Given the description of an element on the screen output the (x, y) to click on. 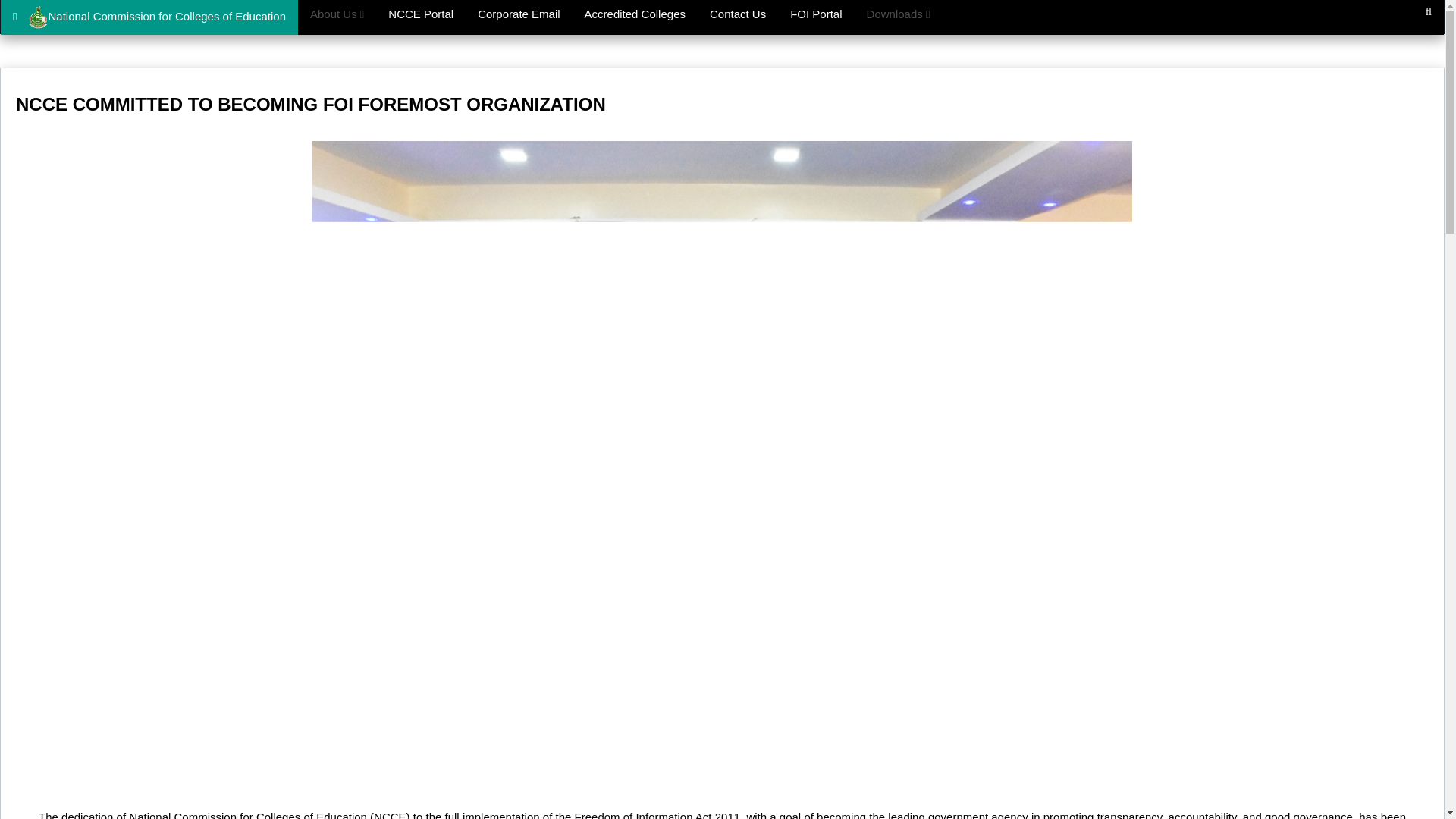
About Us (336, 14)
National Commission for Colleges of Education (149, 17)
Downloads (898, 14)
Search (1428, 11)
Contact Us (737, 14)
About Us (336, 14)
NCCE Portal (420, 14)
Corporate Email (518, 14)
Accredited Colleges (634, 14)
FOI Portal (815, 14)
